Given the description of an element on the screen output the (x, y) to click on. 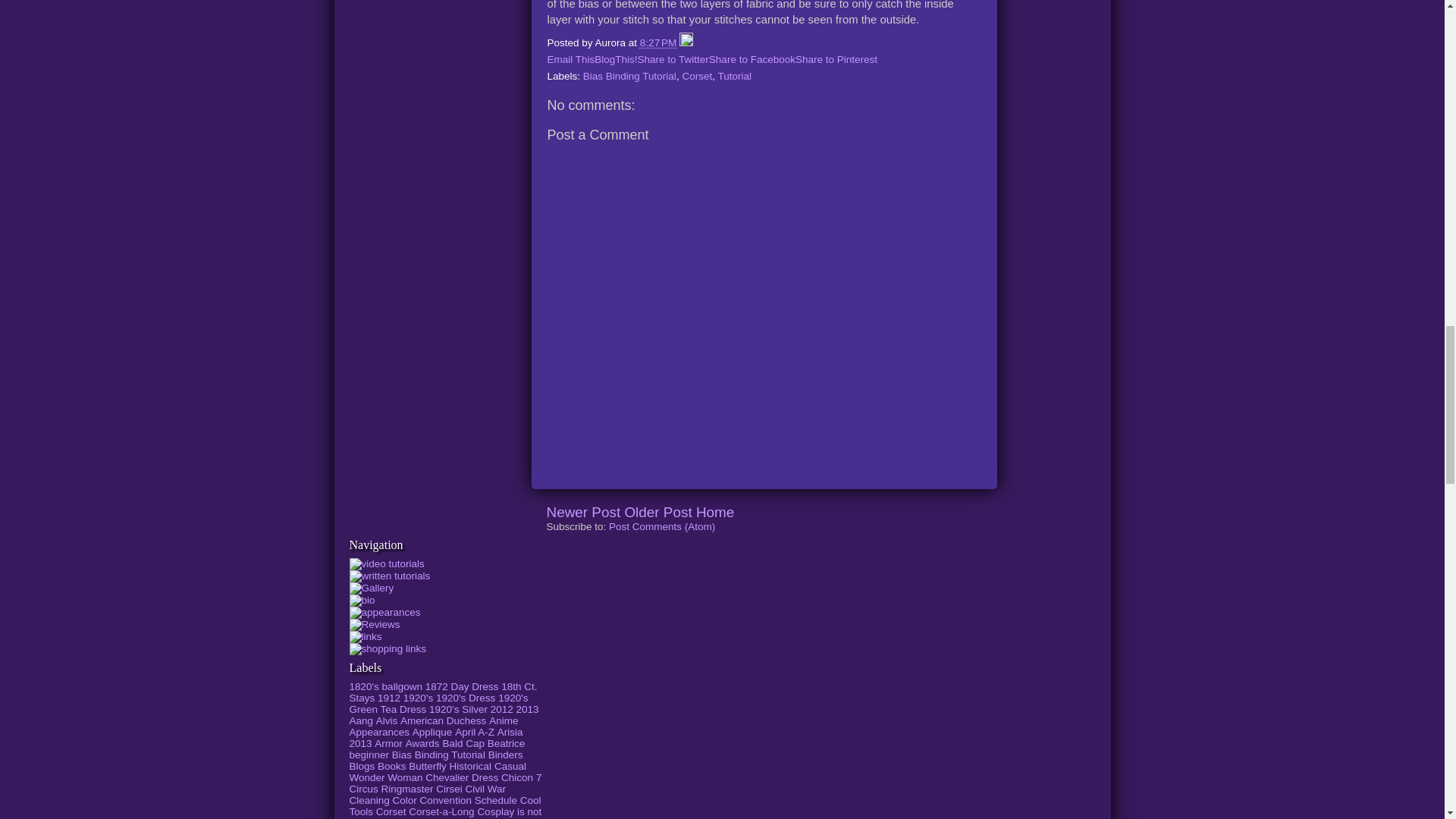
BlogThis! (615, 59)
Share to Facebook (751, 59)
Home (714, 512)
permanent link (658, 42)
Newer Post (583, 512)
1912 (388, 697)
Share to Facebook (751, 59)
2012 (501, 708)
BlogThis! (615, 59)
Older Post (657, 512)
Edit Post (686, 42)
1920's (417, 697)
1920's Dress (465, 697)
Corset (696, 75)
Older Post (657, 512)
